Given the description of an element on the screen output the (x, y) to click on. 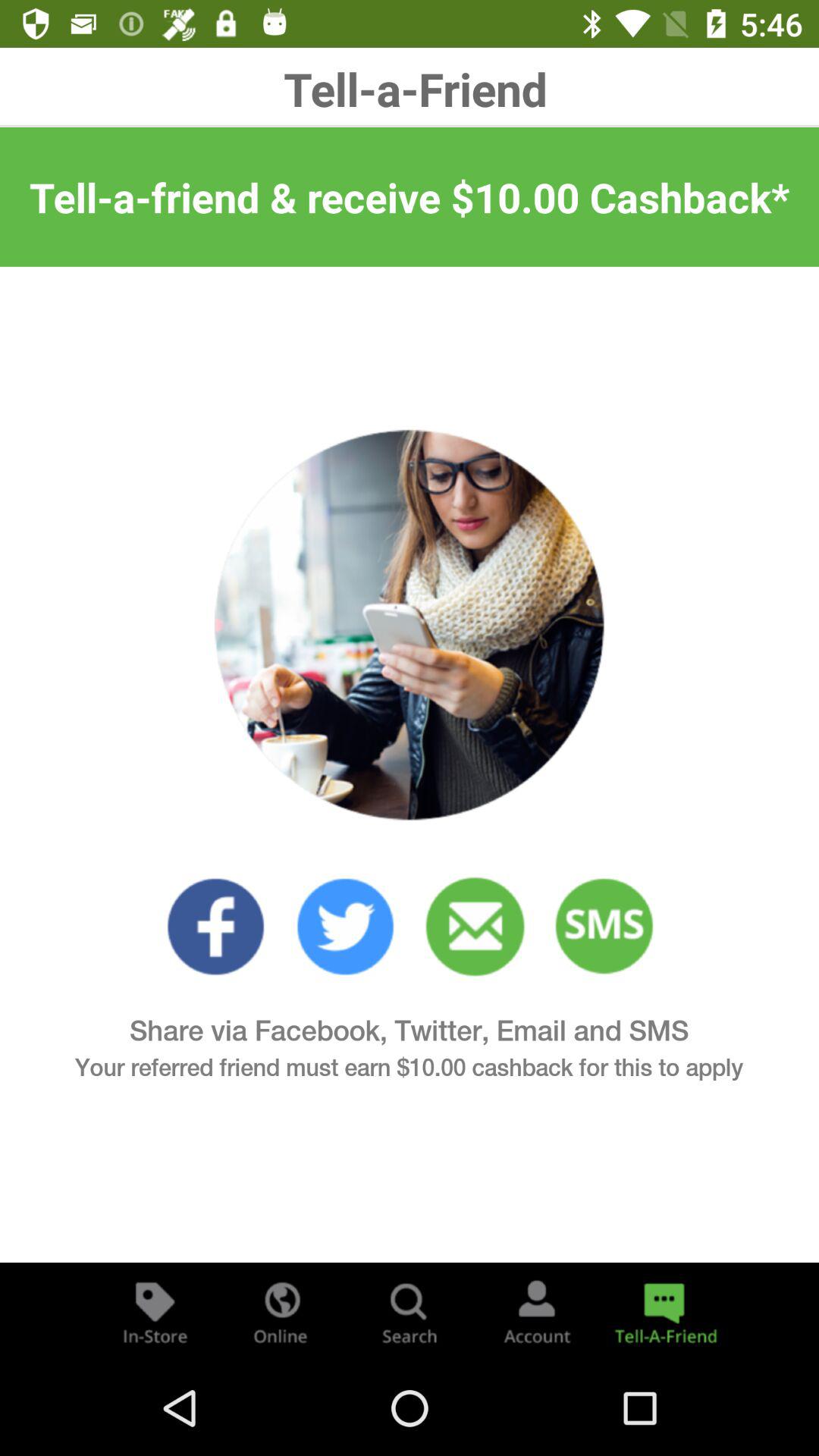
click account (536, 1311)
